Given the description of an element on the screen output the (x, y) to click on. 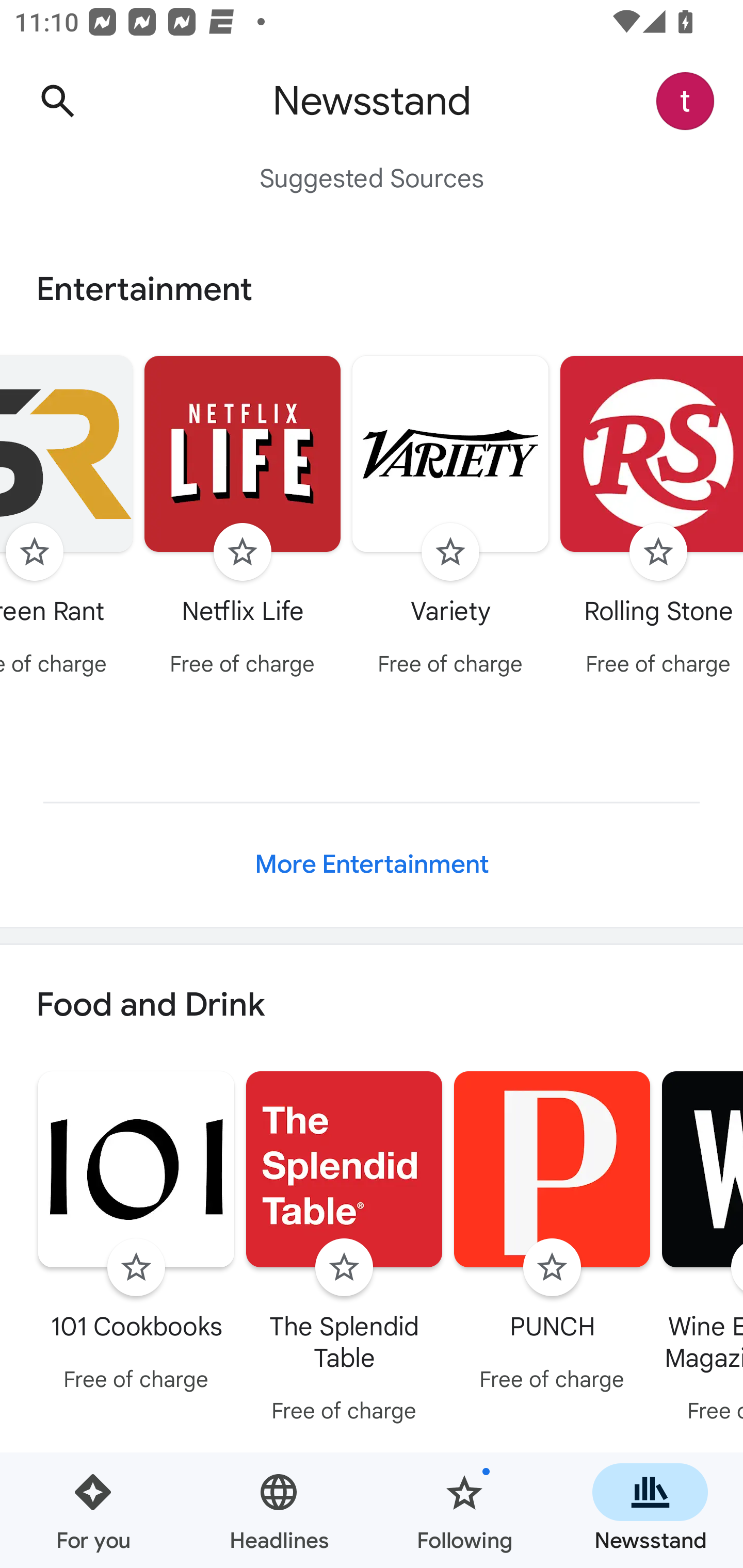
Search (57, 100)
Entertainment (371, 288)
Follow Screen Rant Free of charge (69, 517)
Follow Netflix Life Free of charge (242, 517)
Follow Variety Free of charge (450, 517)
Follow Rolling Stone Free of charge (649, 517)
Follow (34, 551)
Follow (242, 551)
Follow (450, 551)
Follow (658, 551)
More Entertainment (371, 864)
Food and Drink (371, 1005)
Follow 101 Cookbooks Free of charge (136, 1234)
Follow The Splendid Table Free of charge (344, 1250)
Follow PUNCH Free of charge (552, 1234)
Follow (135, 1267)
Follow (343, 1267)
Follow (552, 1267)
For you (92, 1509)
Headlines (278, 1509)
Following (464, 1509)
Newsstand (650, 1509)
